Given the description of an element on the screen output the (x, y) to click on. 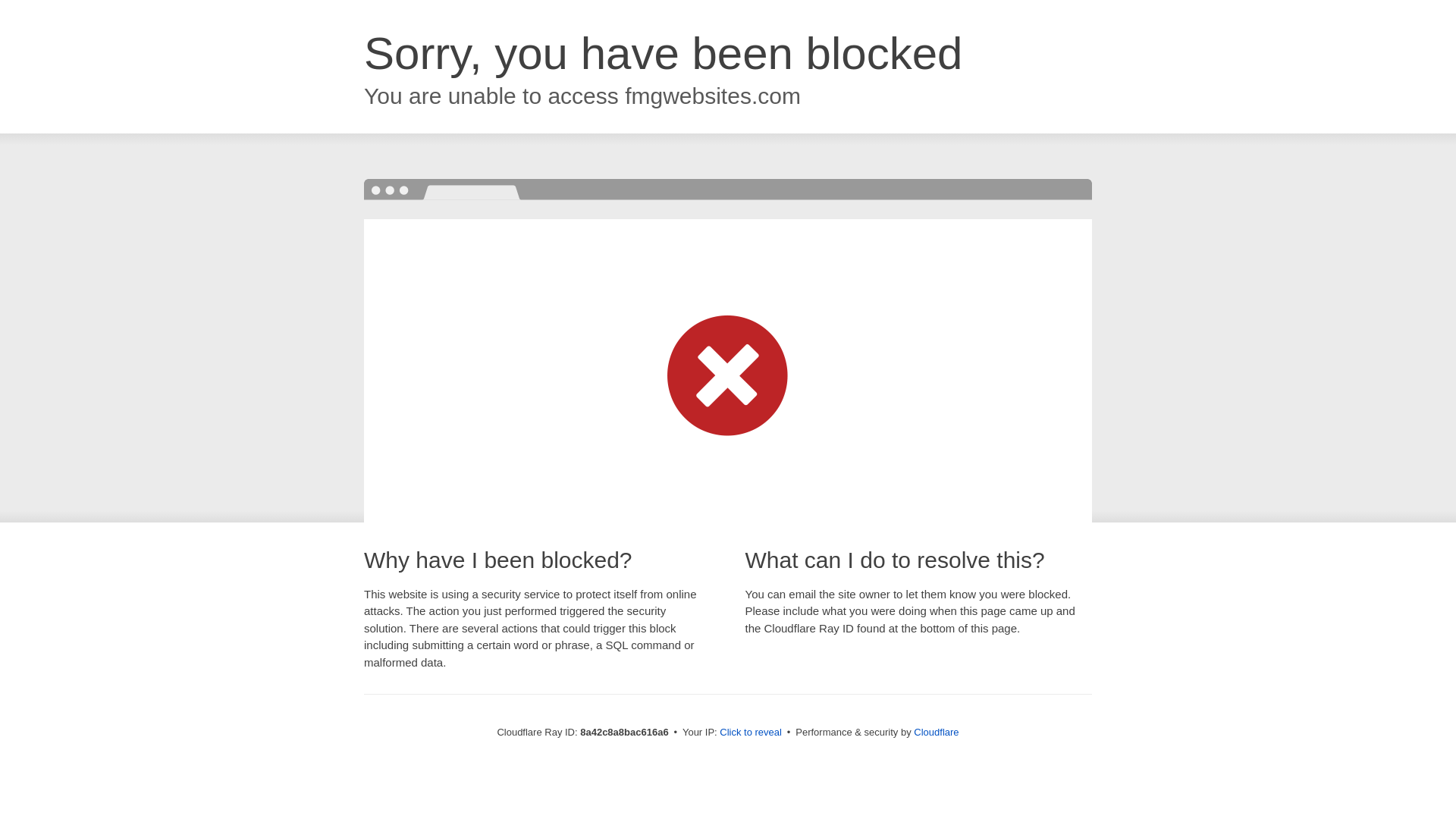
Cloudflare (936, 731)
Click to reveal (750, 732)
